Given the description of an element on the screen output the (x, y) to click on. 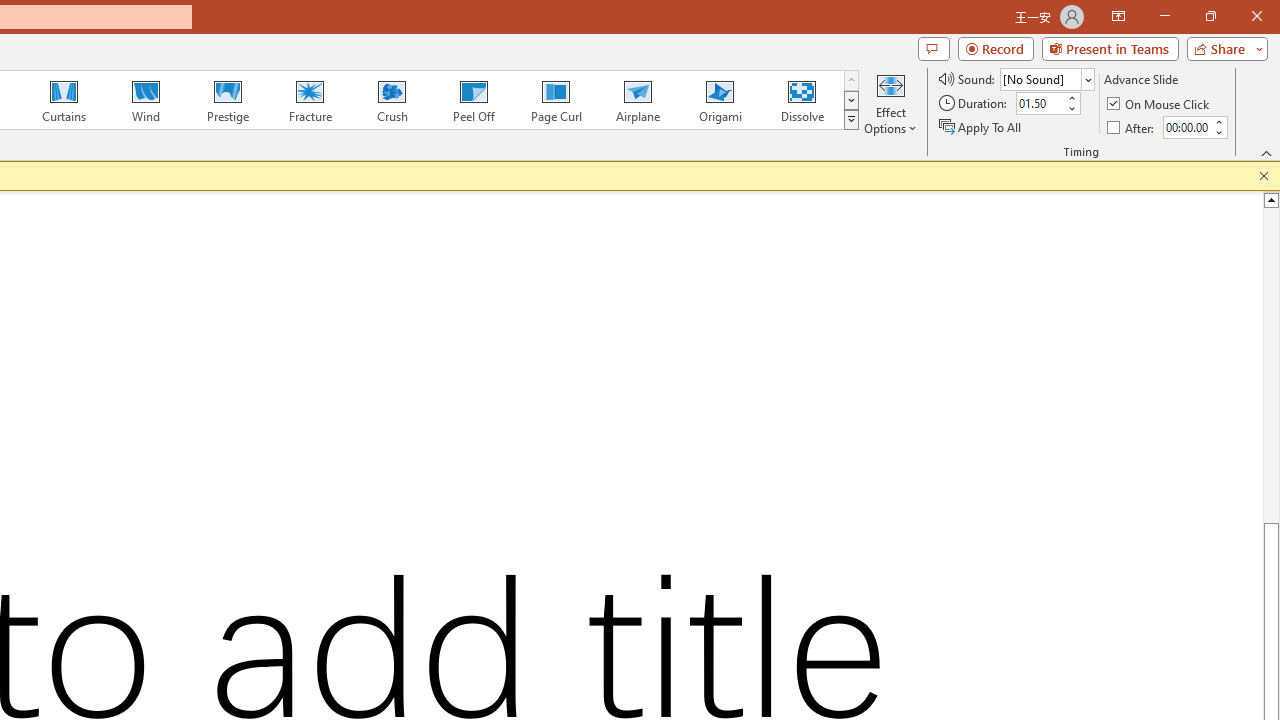
Transition Effects (850, 120)
Wind (145, 100)
Row Down (850, 100)
After (1186, 127)
